Given the description of an element on the screen output the (x, y) to click on. 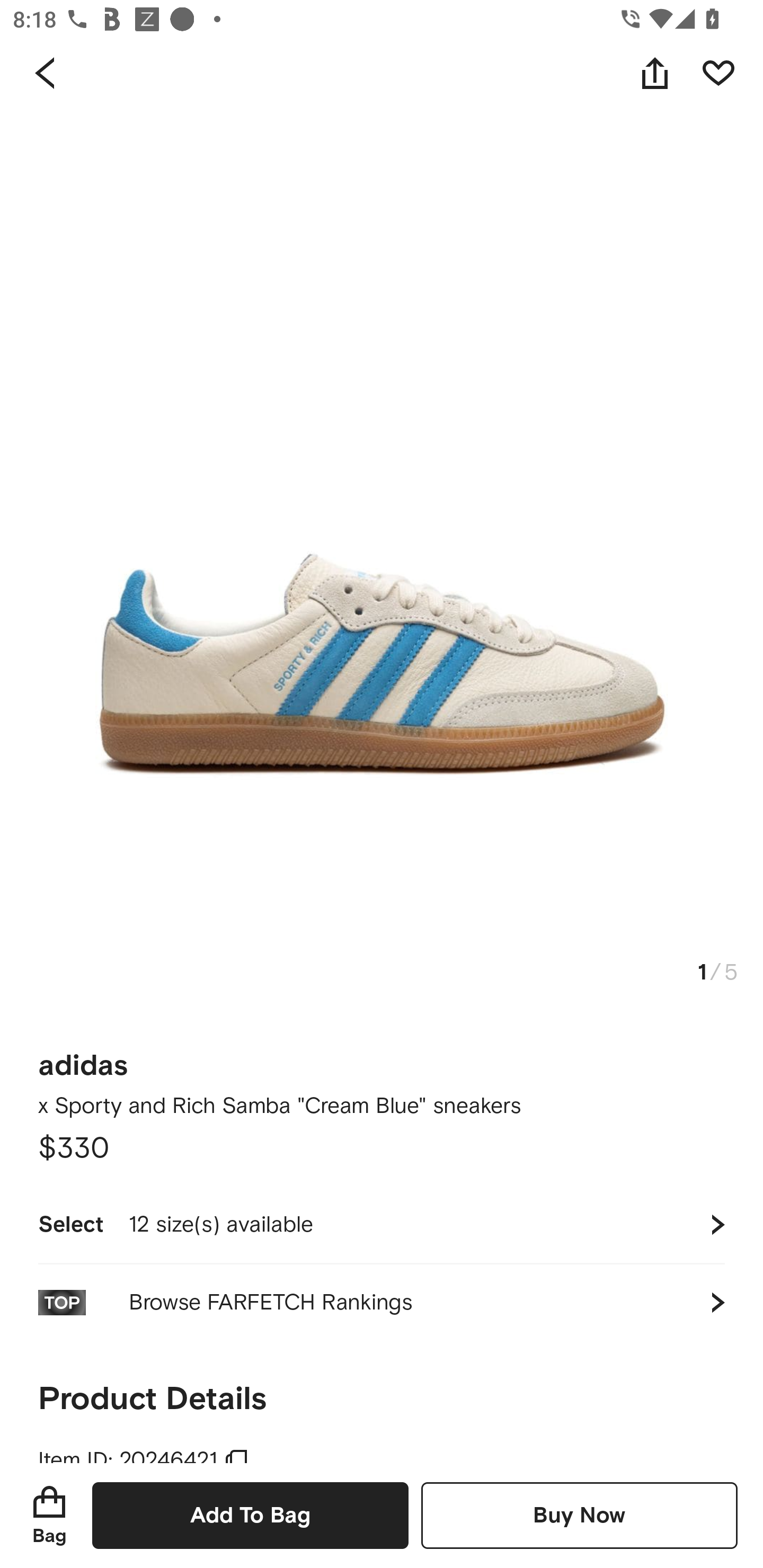
adidas (83, 1059)
Select 12 size(s) available (381, 1224)
Browse FARFETCH Rankings (381, 1301)
Bag (49, 1515)
Add To Bag (250, 1515)
Buy Now (579, 1515)
